Given the description of an element on the screen output the (x, y) to click on. 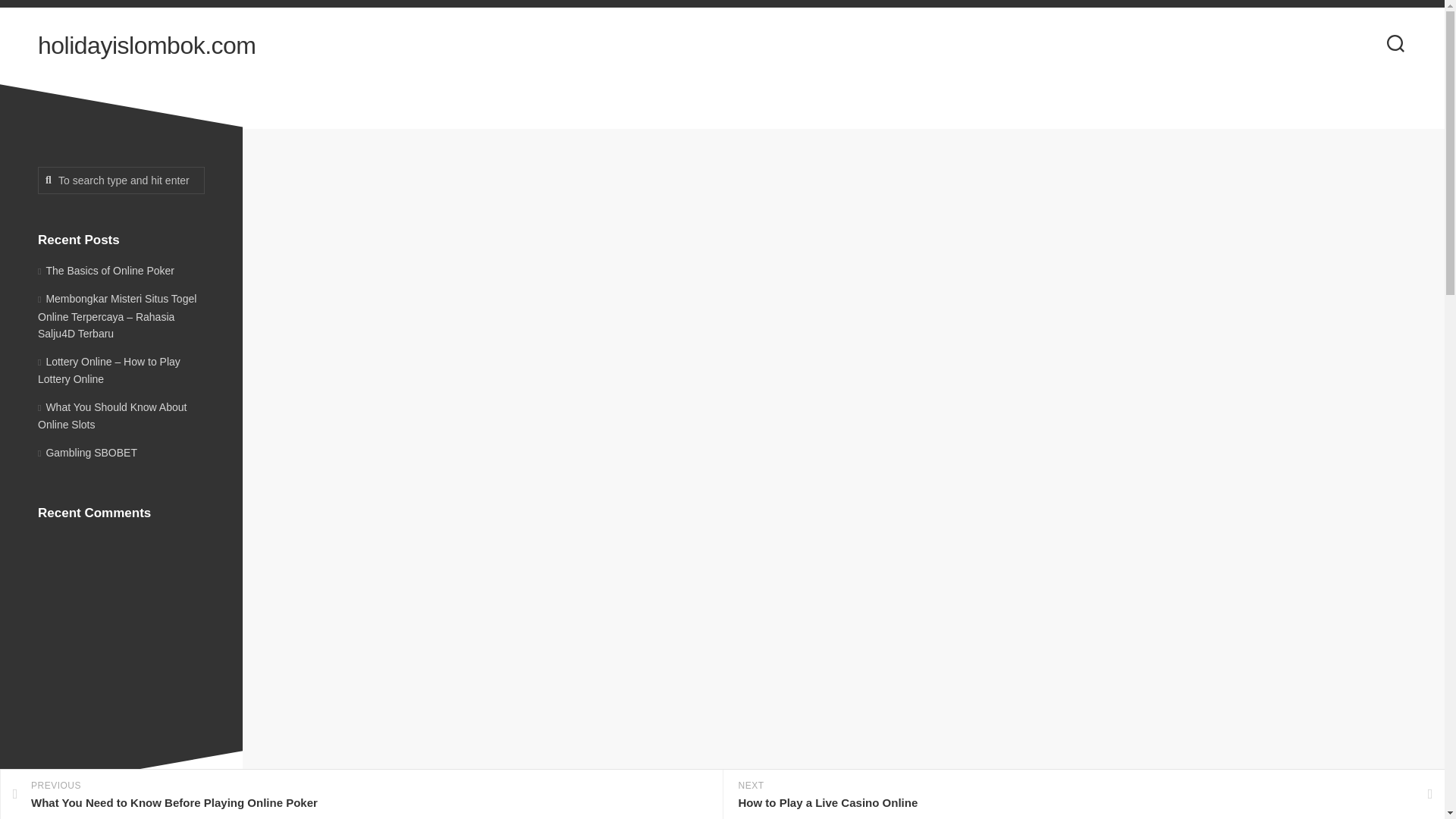
Info (796, 281)
The Basics of Online Poker (105, 269)
To search type and hit enter (121, 180)
holidayislombok.com (146, 44)
Gambling SBOBET (86, 451)
Posts by adminhol (750, 281)
adminhol (750, 281)
What You Should Know About Online Slots (111, 415)
To search type and hit enter (121, 180)
